Given the description of an element on the screen output the (x, y) to click on. 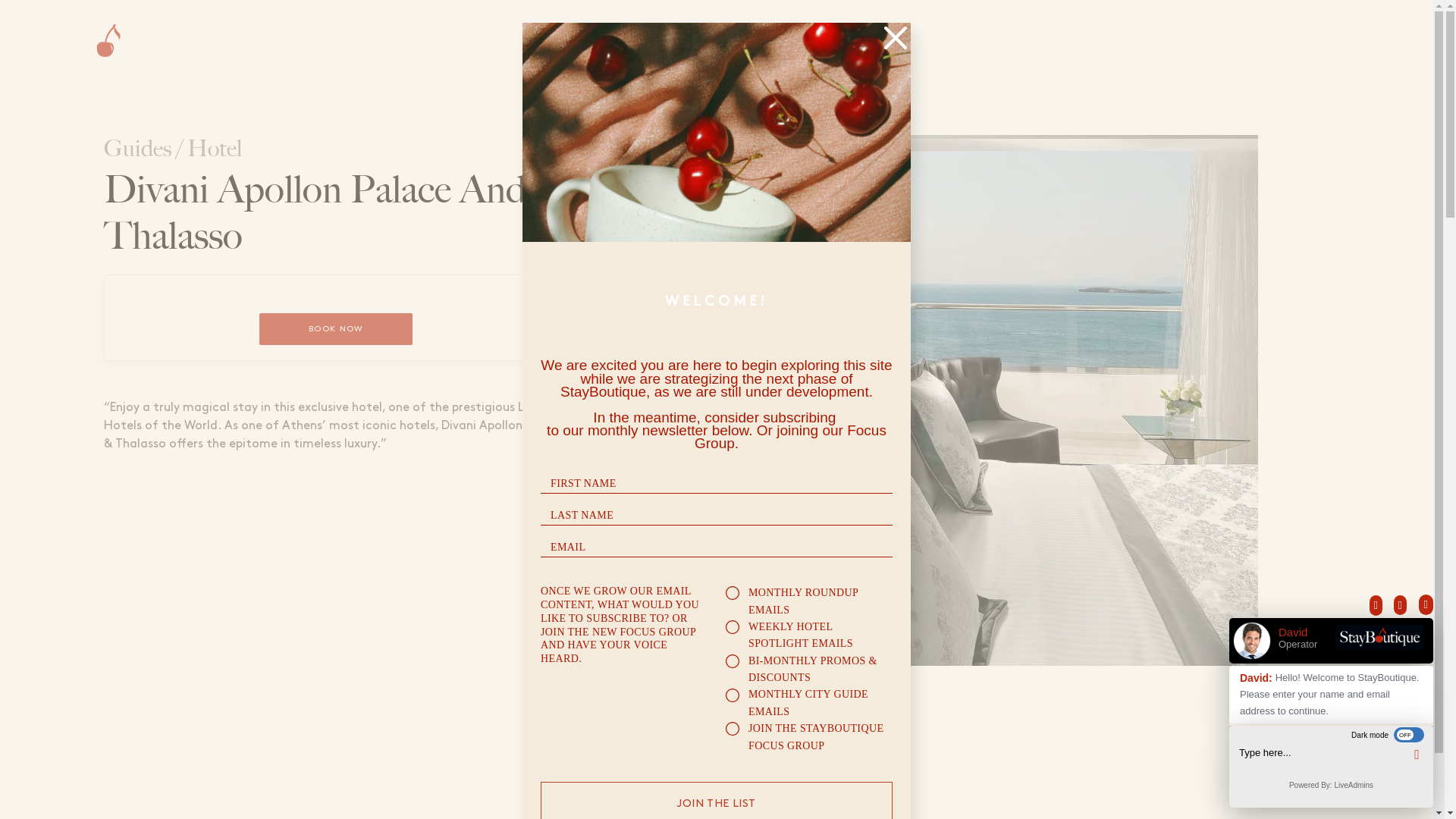
Subscribe (1375, 44)
Discover (812, 44)
Book a Hotel (1083, 44)
BOOK NOW (335, 328)
About (1168, 44)
Trends (1234, 44)
Guides (1302, 44)
